Given the description of an element on the screen output the (x, y) to click on. 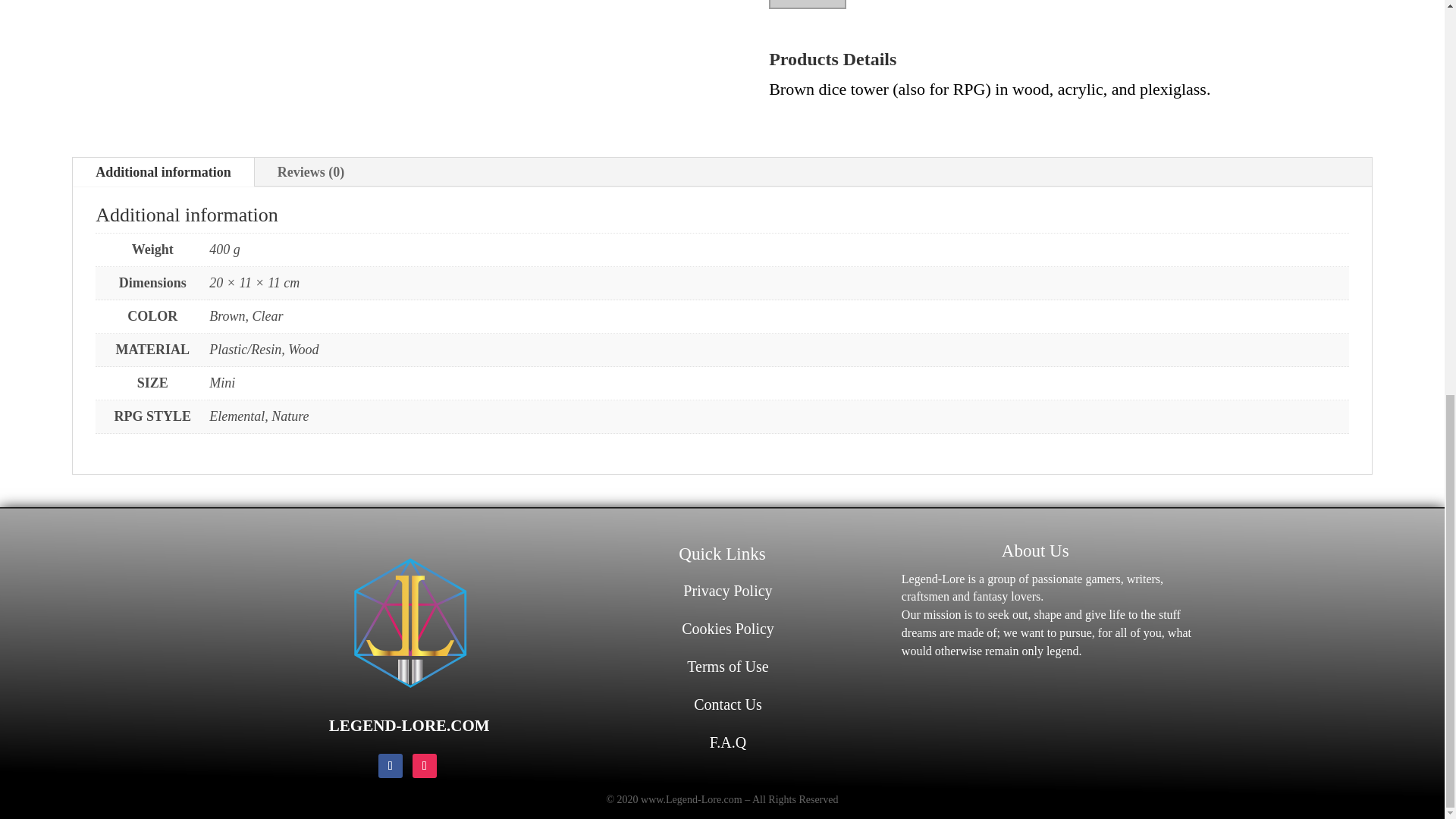
Follow on Instagram (424, 765)
1 (806, 4)
Follow on Facebook (390, 765)
Legend Lore Logo (409, 623)
